Given the description of an element on the screen output the (x, y) to click on. 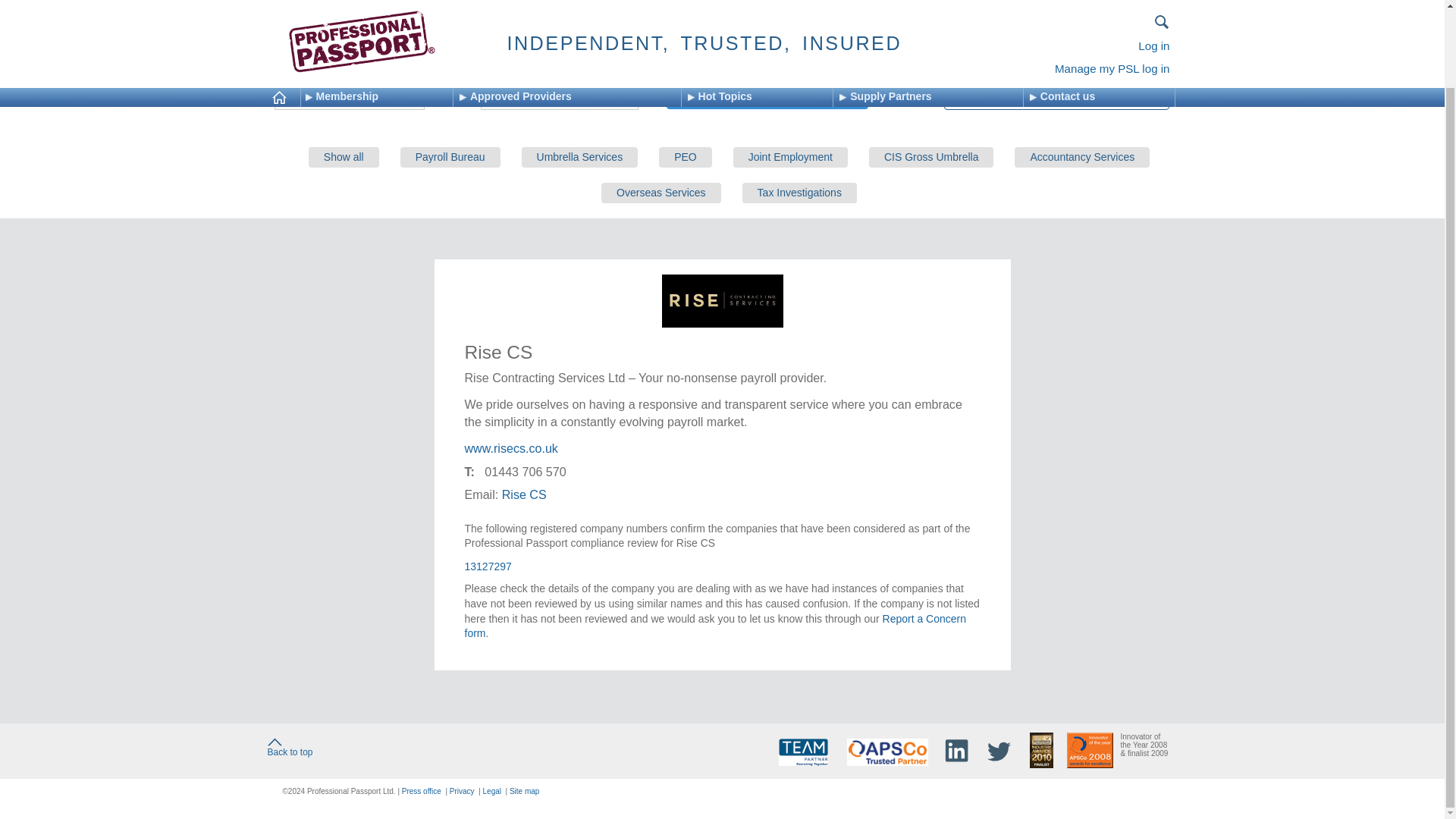
Umbrella Services (580, 157)
Approved Providers (495, 30)
Professional Passport (310, 30)
Download spreadsheet of all Providers (1056, 97)
Hot Topics (759, 9)
Tax Investigations (799, 192)
Show all (343, 157)
Overseas Services (660, 192)
Payroll Bureau (450, 157)
Joint Employment (790, 157)
